Given the description of an element on the screen output the (x, y) to click on. 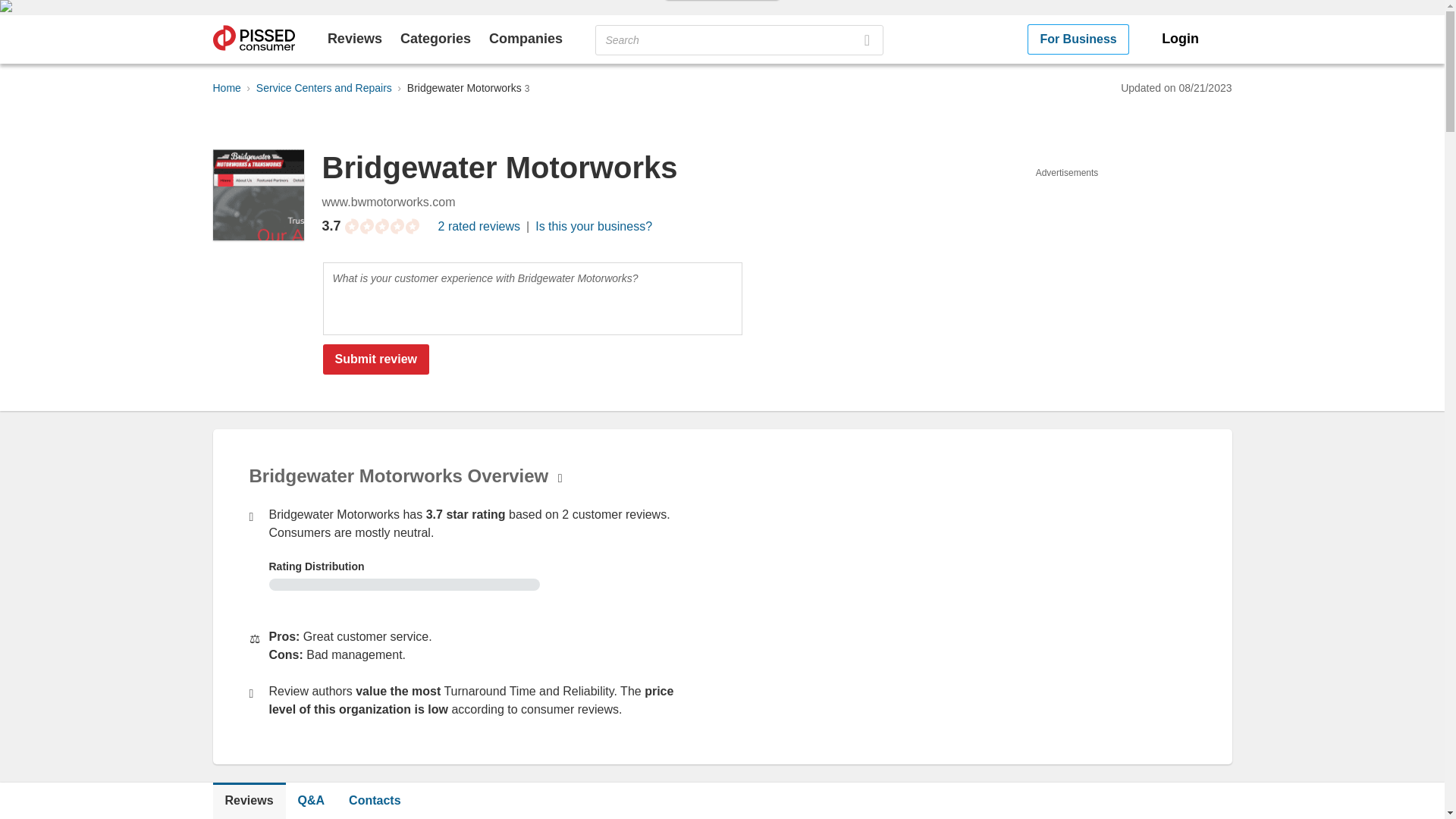
Bridgewater Motorworks reviews (248, 800)
Home (226, 87)
For Business (1077, 39)
Service Centers and Repairs (323, 87)
PissedConsumer (253, 39)
Submit review (376, 358)
Categories (435, 38)
Reviews (354, 38)
Companies (525, 38)
Contacts (374, 800)
Reviews (248, 800)
